Given the description of an element on the screen output the (x, y) to click on. 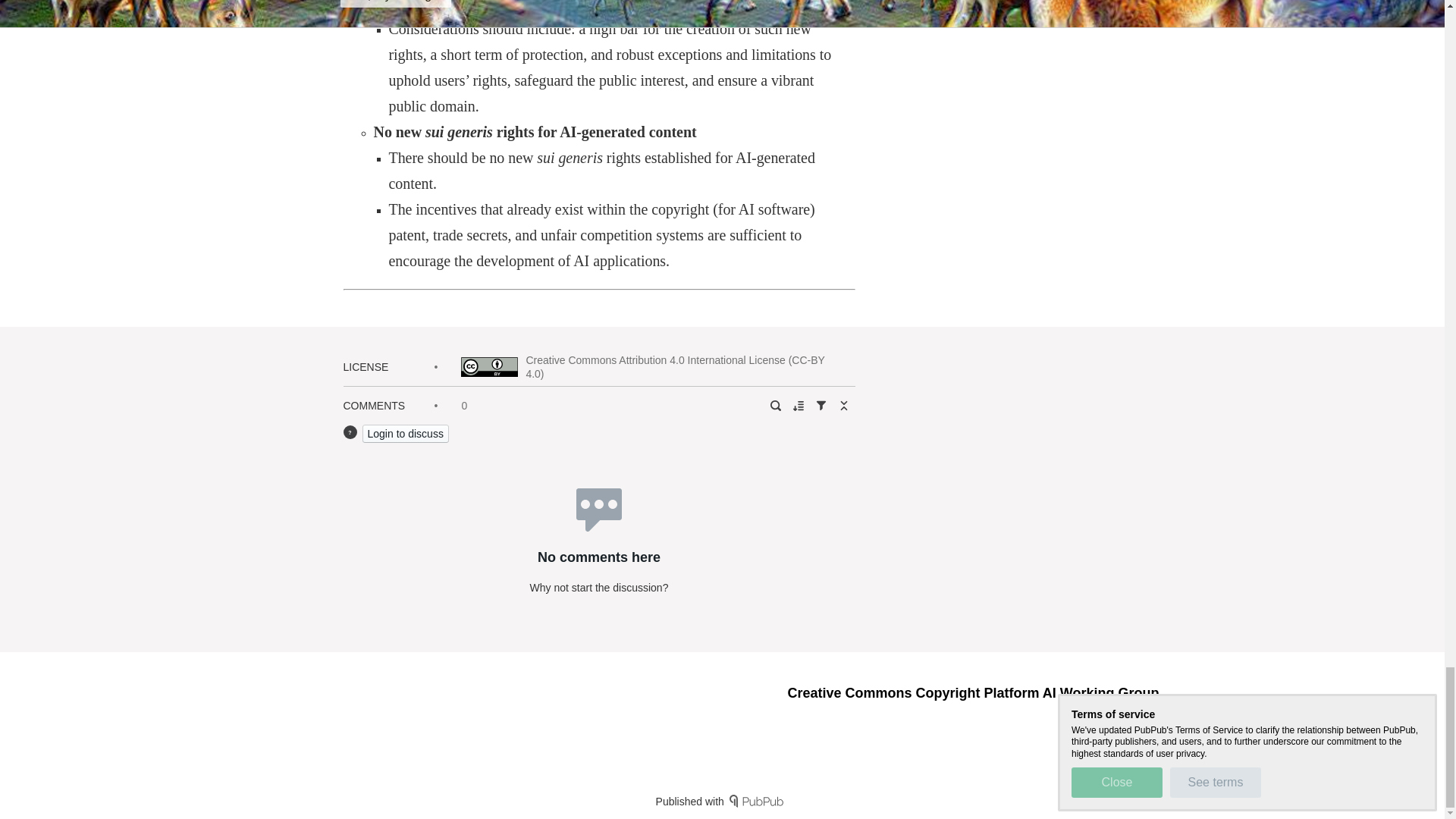
Published with (722, 801)
RSS (1104, 719)
Legal (1145, 719)
Creative Commons Copyright Platform AI Working Group (972, 693)
Login to discuss (405, 434)
